Given the description of an element on the screen output the (x, y) to click on. 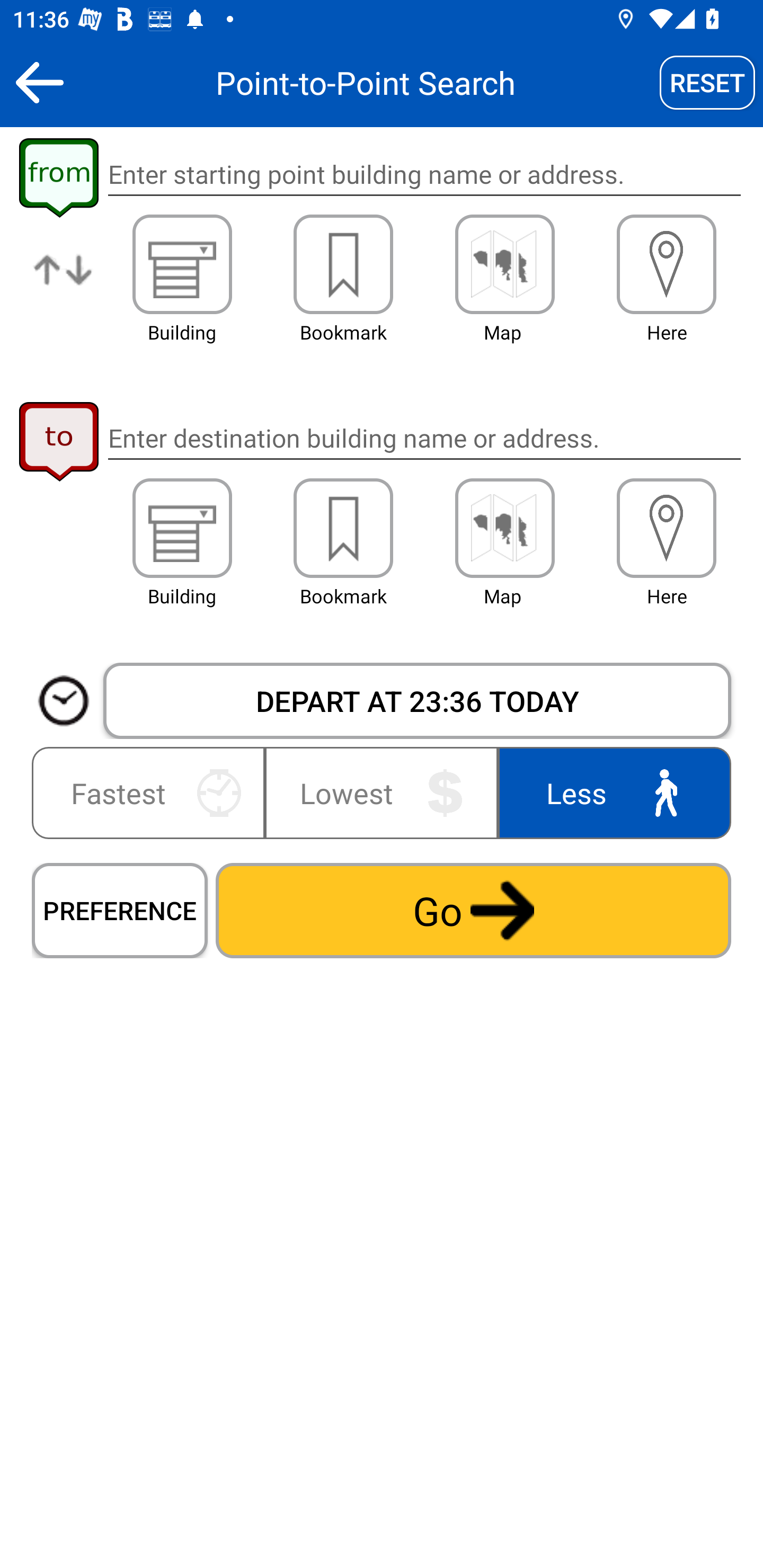
Back (39, 82)
RESET Reset (707, 81)
Enter starting point building name or address. (423, 174)
Building (181, 263)
Bookmarks (342, 263)
Select location on map (504, 263)
Here (666, 263)
Swap origin and destination (63, 284)
Enter destination building name or address. (423, 437)
Building (181, 528)
Bookmarks (342, 528)
Select location on map (504, 528)
Here (666, 528)
Lowest (381, 792)
Fastest (151, 792)
Less selected (610, 792)
PREFERENCE Preference (119, 910)
Go (472, 910)
